Given the description of an element on the screen output the (x, y) to click on. 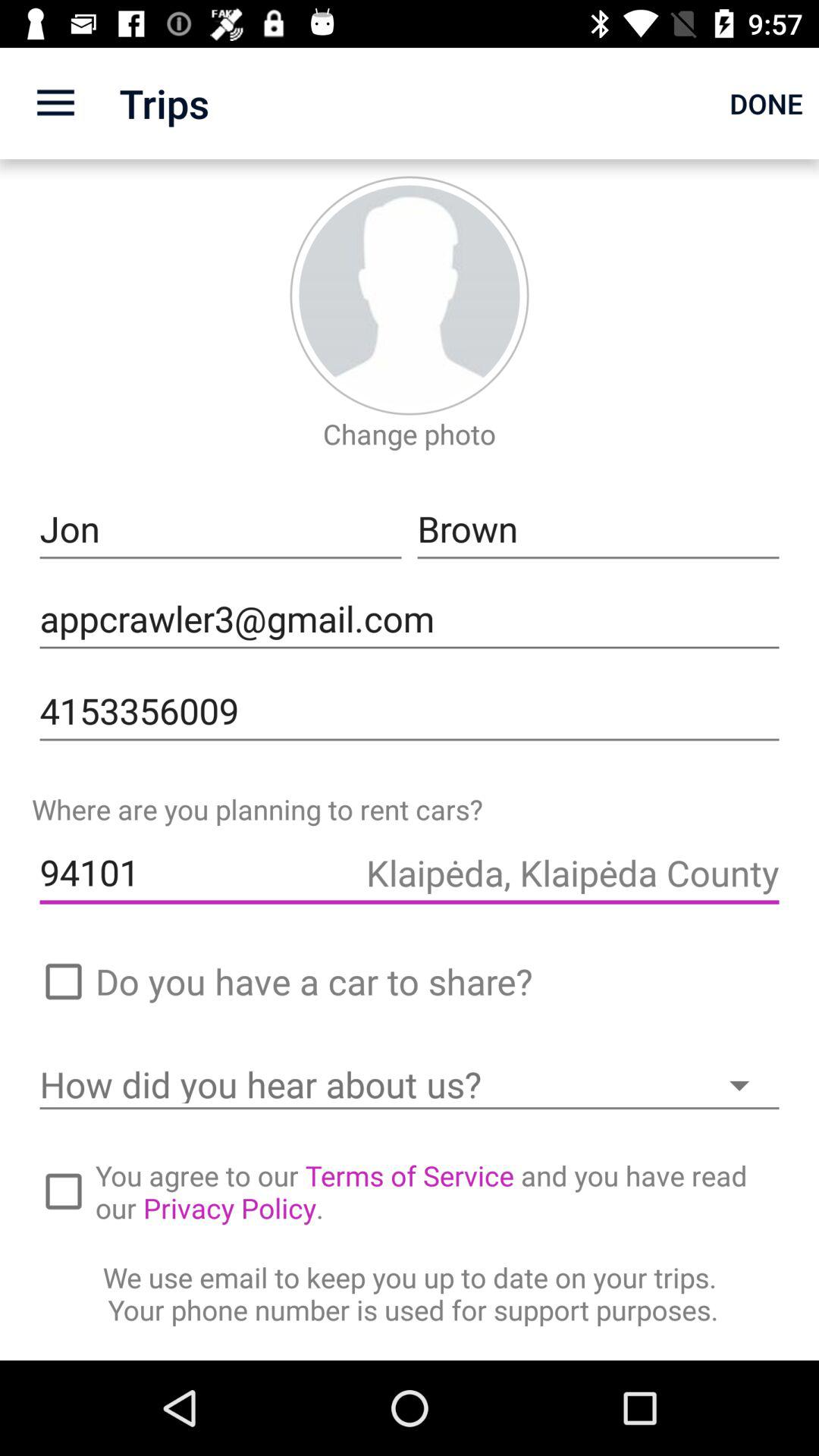
choose the icon above the jon icon (409, 433)
